Given the description of an element on the screen output the (x, y) to click on. 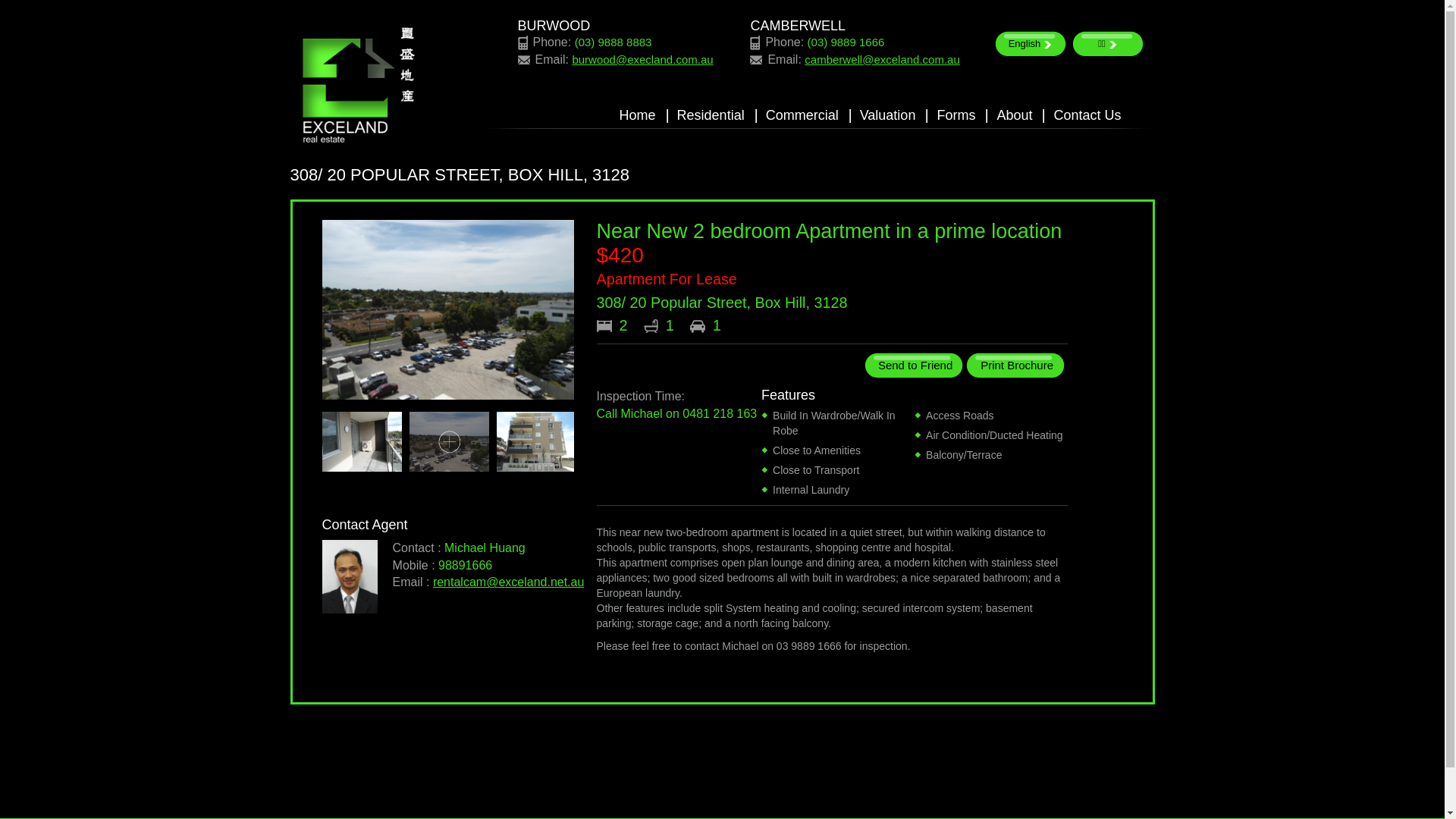
About Element type: text (1014, 115)
rentalcam@exceland.net.au Element type: text (508, 581)
Contact Us Element type: text (1086, 115)
English Element type: text (1030, 43)
(03) 9889 1666 Element type: text (845, 41)
Residential Element type: text (710, 115)
Commercial Element type: text (801, 115)
Home Element type: text (637, 115)
Valuation Element type: text (887, 115)
burwood@execland.com.au Element type: text (641, 59)
camberwell@exceland.com.au Element type: text (882, 59)
Forms Element type: text (955, 115)
